Given the description of an element on the screen output the (x, y) to click on. 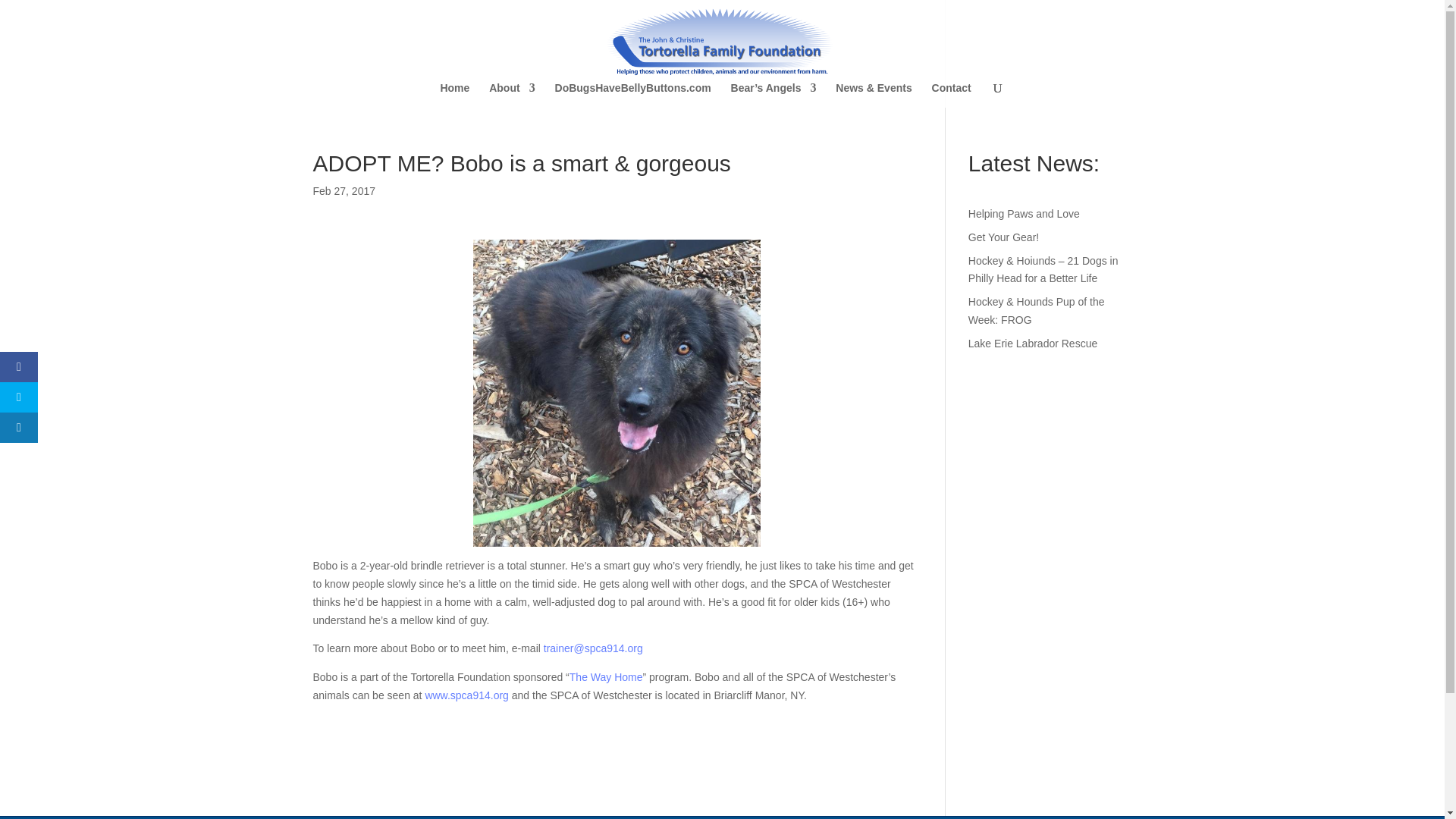
DoBugsHaveBellyButtons.com (632, 94)
Home (453, 94)
Helping Paws and Love (1024, 214)
Lake Erie Labrador Rescue (1032, 343)
The Way Home (606, 676)
www.spca914.org (466, 695)
Contact (951, 94)
About (511, 94)
Get Your Gear! (1003, 236)
